Given the description of an element on the screen output the (x, y) to click on. 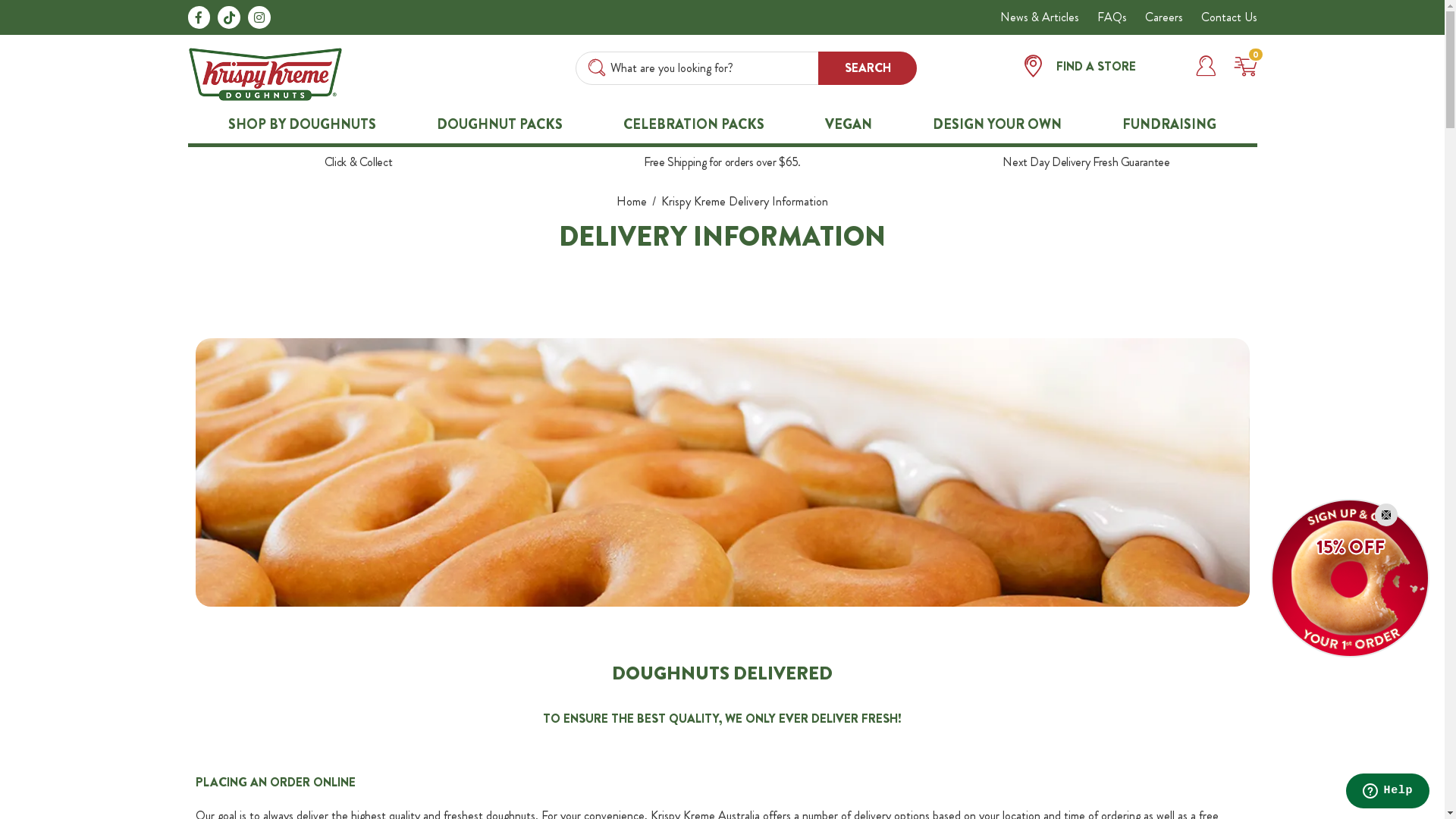
Contact Us Element type: text (1229, 17)
DESIGN YOUR OWN Element type: text (997, 124)
Krispy Kreme logo Element type: hover (265, 72)
Careers Element type: text (1164, 17)
Click & Collect Element type: text (358, 161)
CELEBRATION PACKS Element type: text (693, 124)
SHOP BY DOUGHNUTS Element type: text (301, 124)
Krispy Kreme logo Element type: hover (265, 74)
Sign In Element type: text (1206, 65)
SEARCH Element type: text (867, 67)
VEGAN Element type: text (848, 124)
Krispy Kreme Newsletter Sign up Element type: hover (1349, 577)
News & Articles Element type: text (1038, 17)
FIND A STORE Element type: text (1102, 67)
DOUGHNUT PACKS Element type: text (499, 124)
FUNDRAISING Element type: text (1169, 124)
My Bag
0 Element type: text (1239, 65)
Free Shipping for orders over $65. Element type: text (721, 161)
Home Element type: text (632, 201)
Krispy Kreme Newsletter Sign up Element type: hover (1349, 575)
FAQs Element type: text (1111, 17)
Next Day Delivery Fresh Guarantee Element type: text (1085, 161)
Opens a widget where you can find more information Element type: hover (1387, 792)
